Given the description of an element on the screen output the (x, y) to click on. 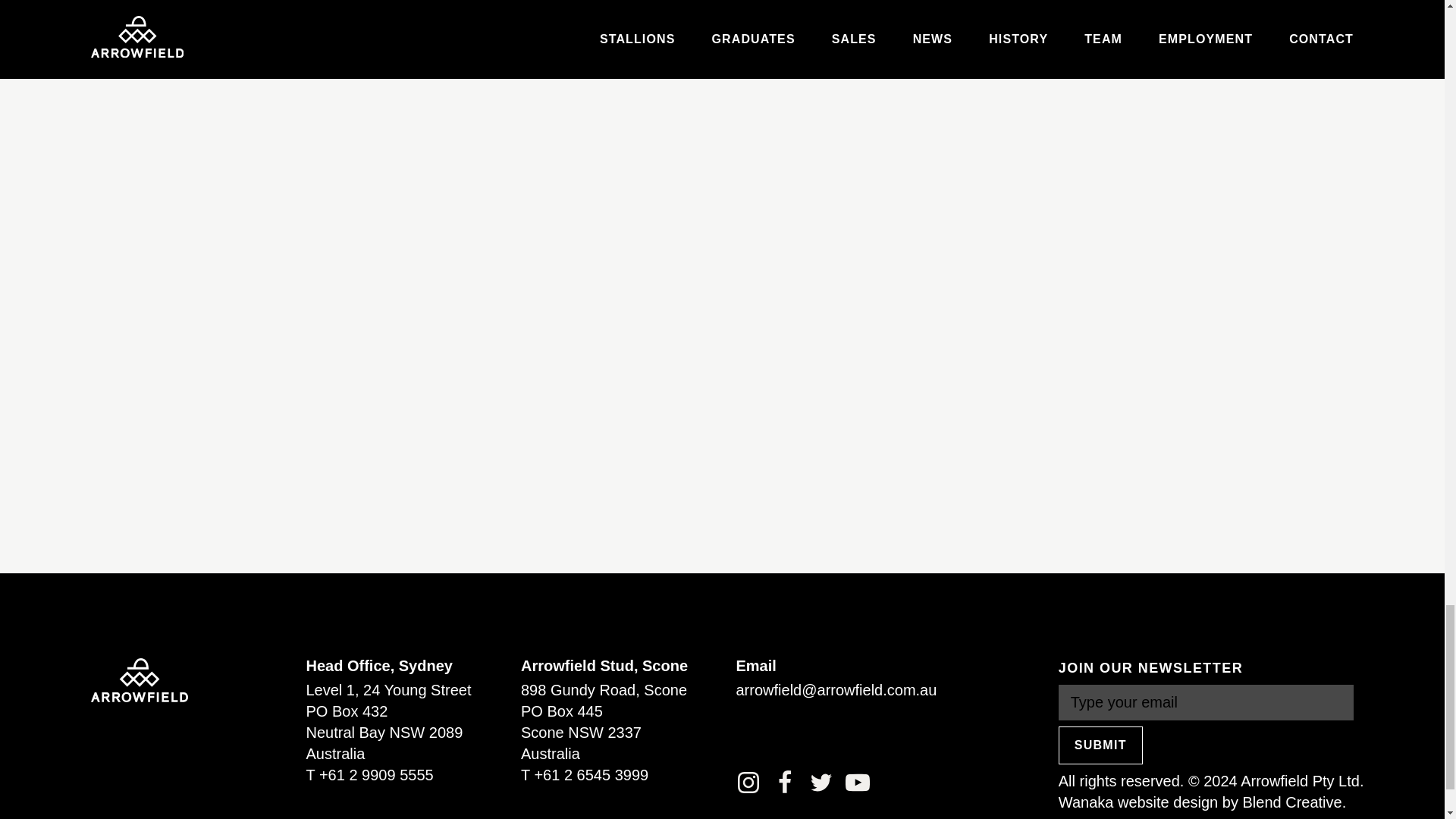
Arrowfield (138, 679)
Return to the homepage (138, 678)
Arrowfield (138, 678)
SUBMIT (1100, 745)
Wanaka website design by Blend Creative. (1201, 801)
